Given the description of an element on the screen output the (x, y) to click on. 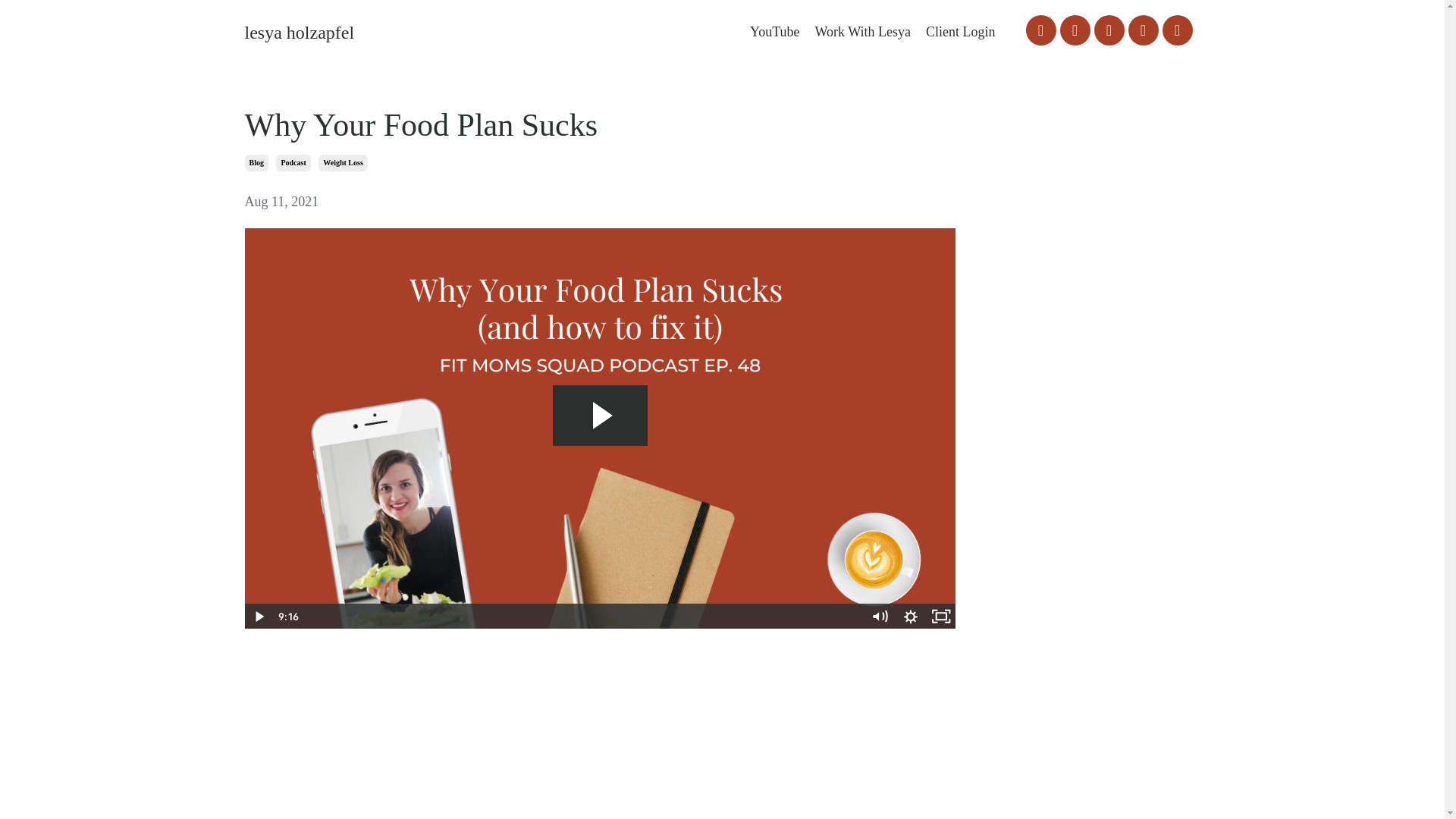
Client Login (960, 32)
Weight Loss (343, 162)
Podcast (293, 162)
Work With Lesya (863, 32)
Show settings menu (910, 616)
YouTube (774, 32)
lesya holzapfel (298, 31)
Blog (255, 162)
